Given the description of an element on the screen output the (x, y) to click on. 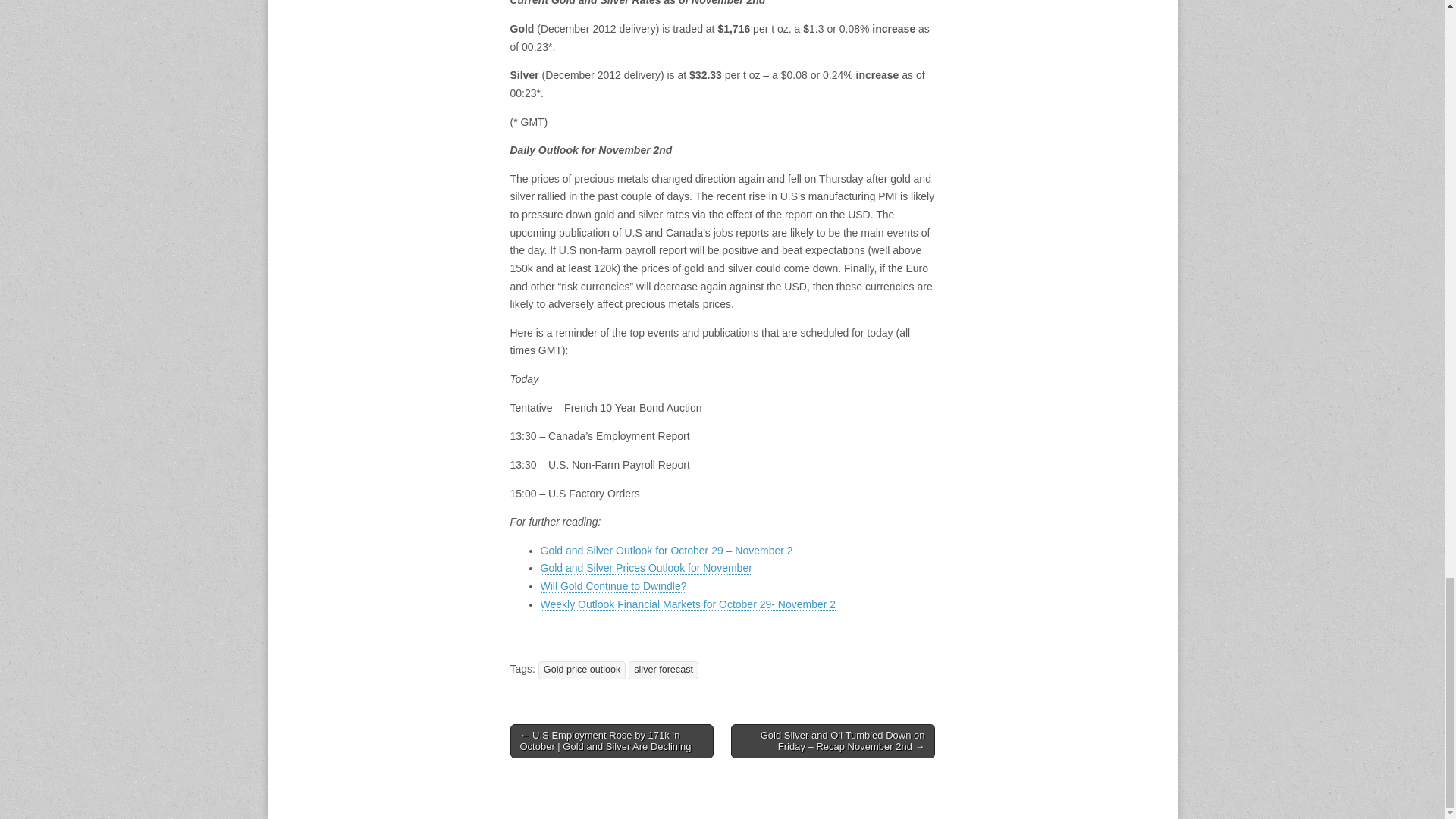
Gold and Silver Prices Outlook for November (645, 567)
Gold price outlook (582, 669)
silver forecast (663, 669)
Will Gold Continue to Dwindle? (612, 585)
Weekly Outlook Financial Markets for October 29- November 2 (687, 604)
